Given the description of an element on the screen output the (x, y) to click on. 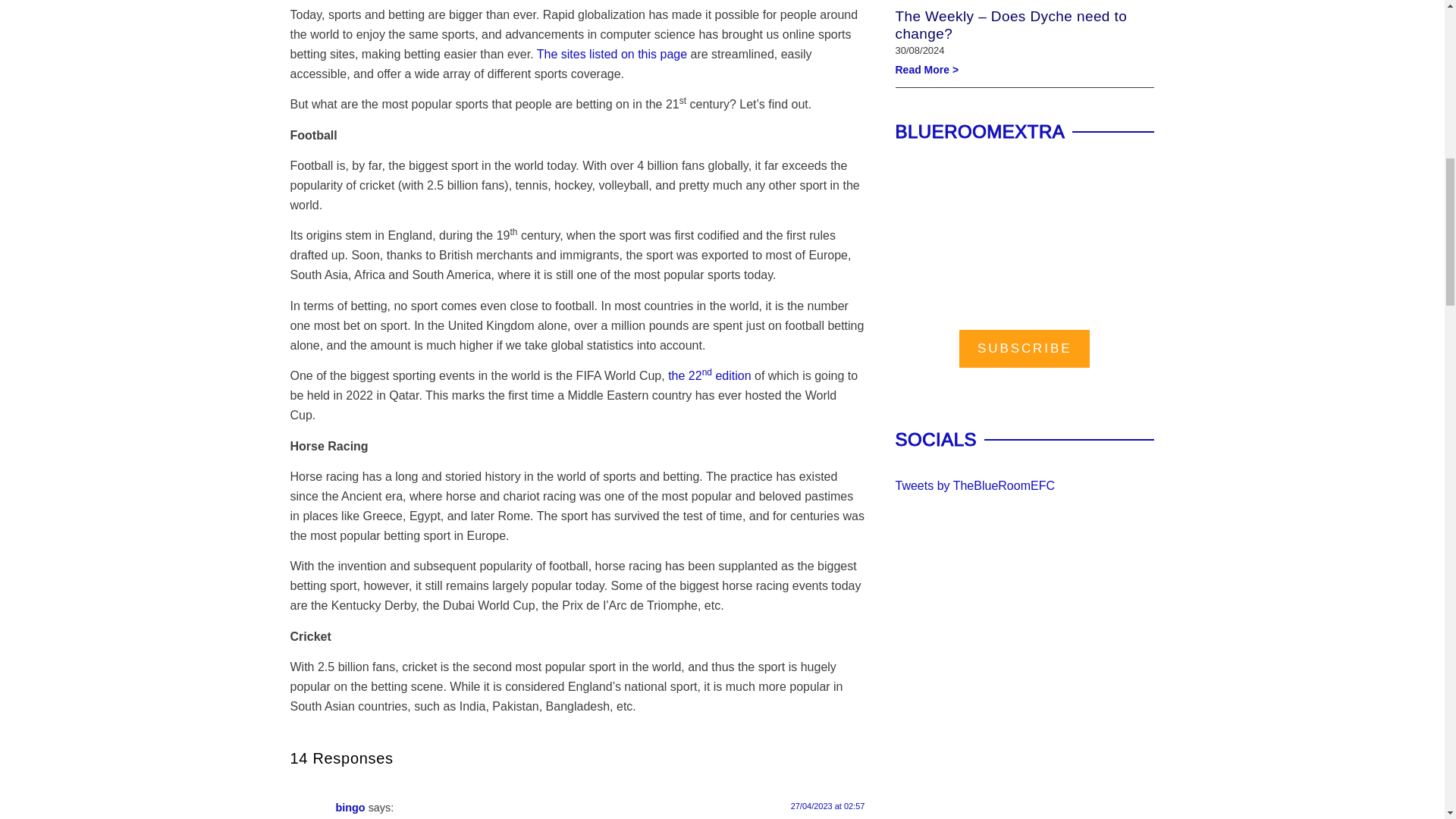
bingo (349, 807)
The sites listed on this page (612, 53)
the 22nd edition (709, 375)
